Given the description of an element on the screen output the (x, y) to click on. 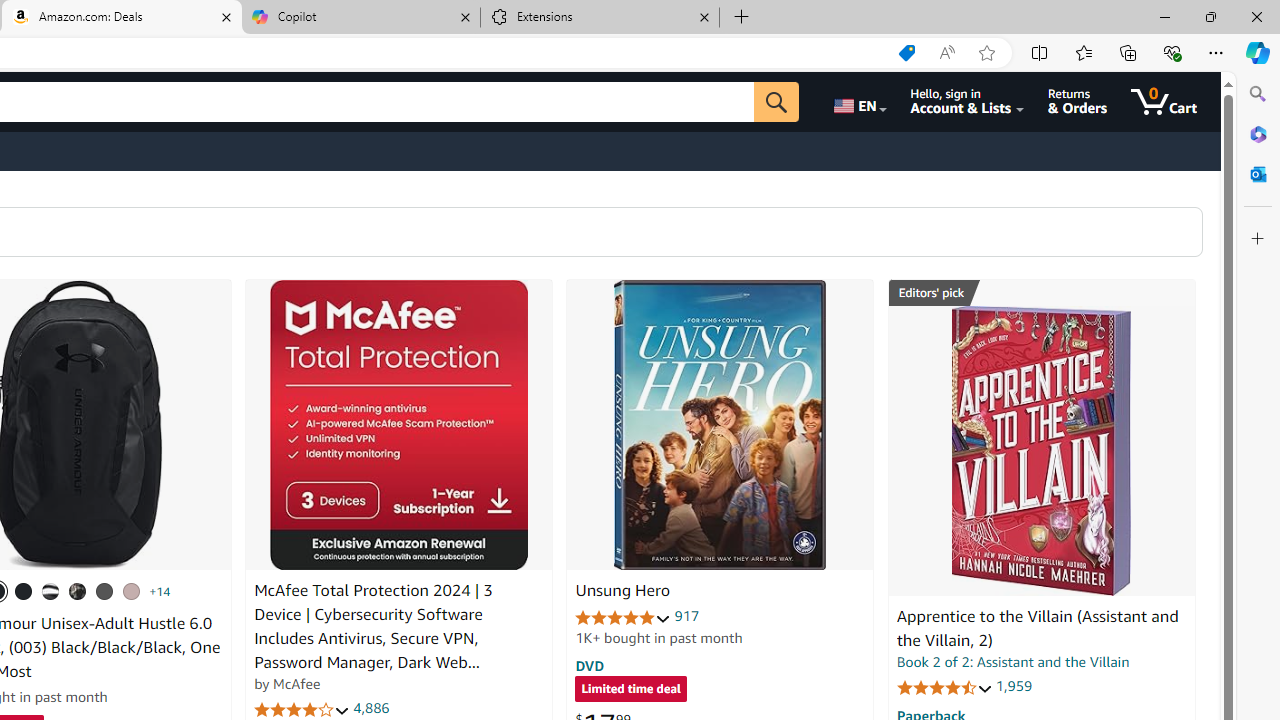
Unsung Hero (622, 591)
Book 2 of 2: Assistant and the Villain (1013, 662)
Copilot (360, 17)
(002) Black / Black / White (51, 591)
Limited time deal (630, 690)
DVD (589, 665)
Hello, sign in Account & Lists (967, 101)
4.6 out of 5 stars (944, 686)
(004) Black / Black / Metallic Gold (78, 591)
